Given the description of an element on the screen output the (x, y) to click on. 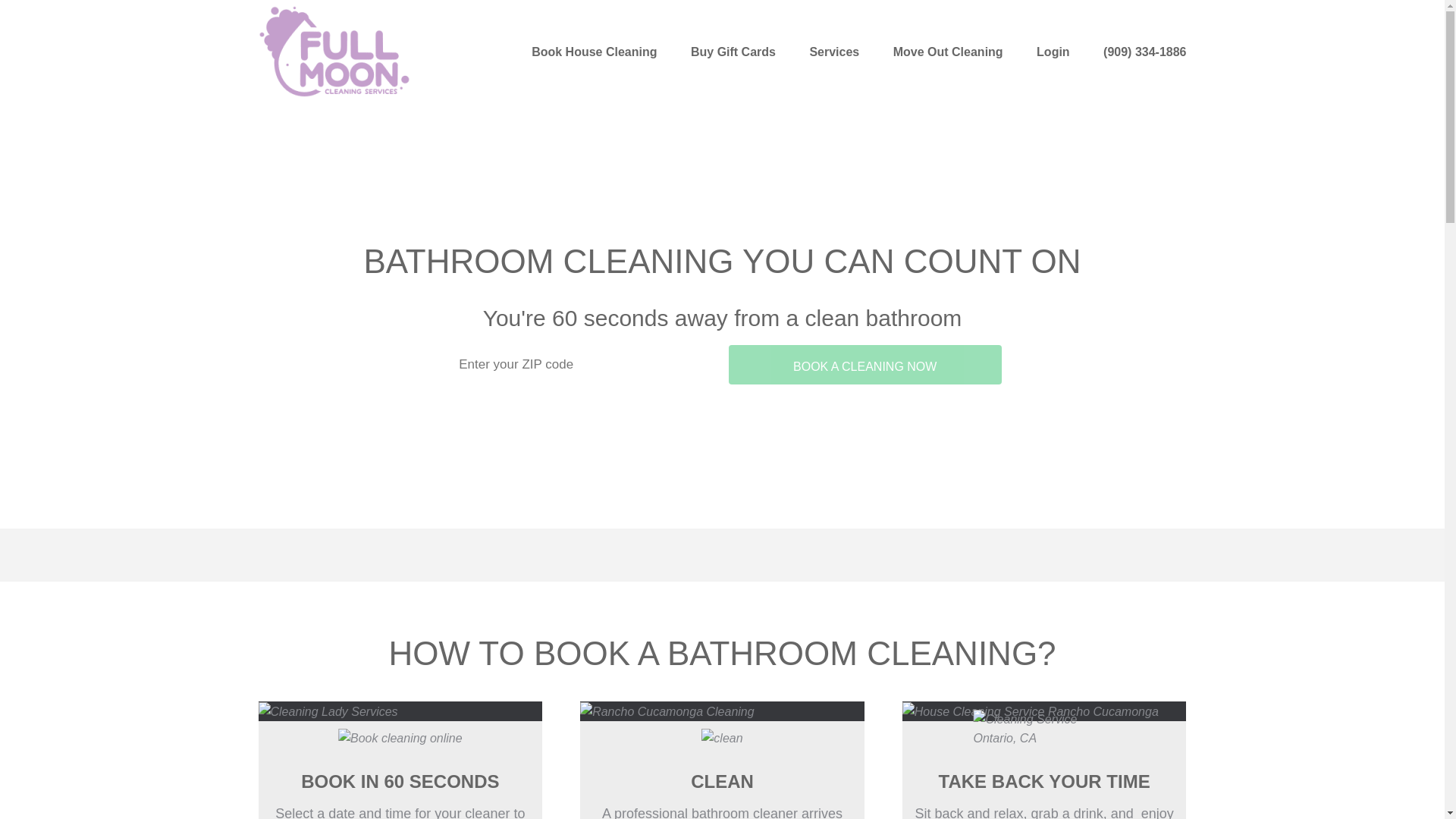
Login (1053, 51)
BOOK A CLEANING NOW (865, 364)
Services (834, 51)
Move Out Cleaning (948, 51)
Buy Gift Cards (733, 51)
Book House Cleaning (593, 51)
